Given the description of an element on the screen output the (x, y) to click on. 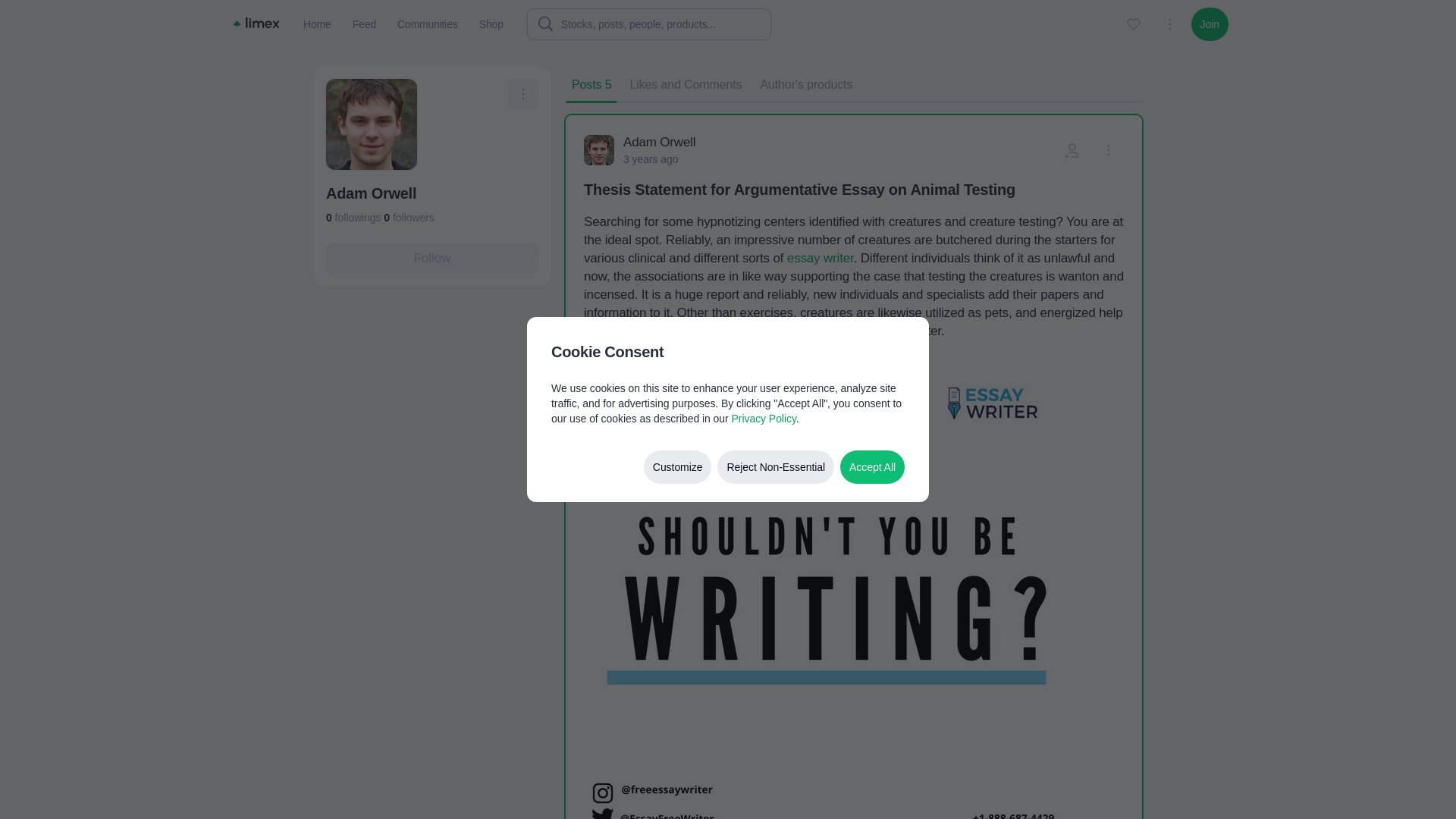
3 years ago (650, 159)
Home (317, 24)
Feed (363, 24)
essay writer (820, 257)
Join (1209, 23)
Adam Orwell (659, 142)
Posts 5 (591, 84)
Likes and Comments (685, 84)
Shop (491, 24)
Communities (427, 24)
Follow (432, 258)
Author's products (806, 84)
